Given the description of an element on the screen output the (x, y) to click on. 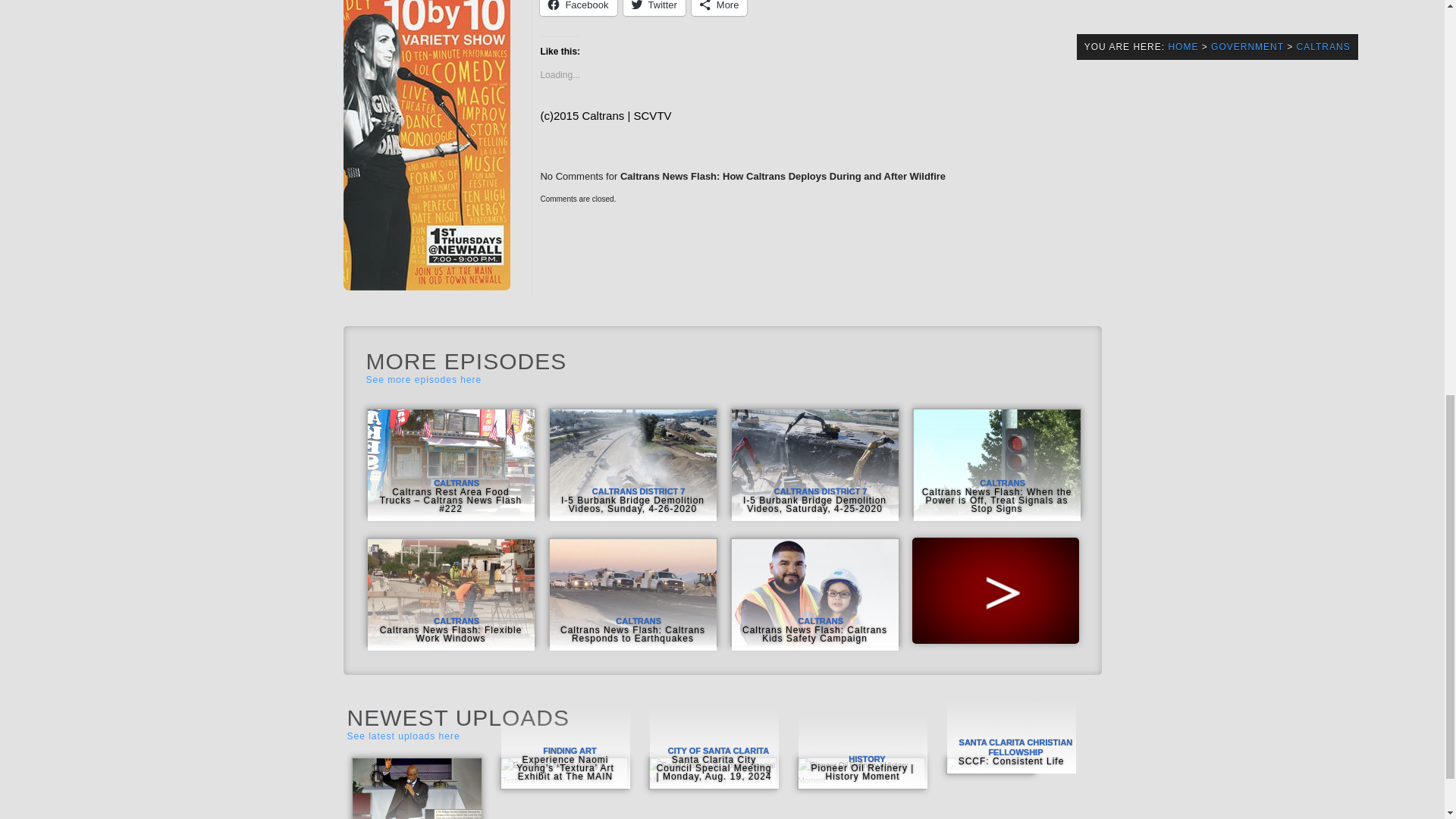
Click to share on Facebook (577, 7)
Thursdays at Newhall (425, 287)
Click to share on Twitter (654, 7)
